Given the description of an element on the screen output the (x, y) to click on. 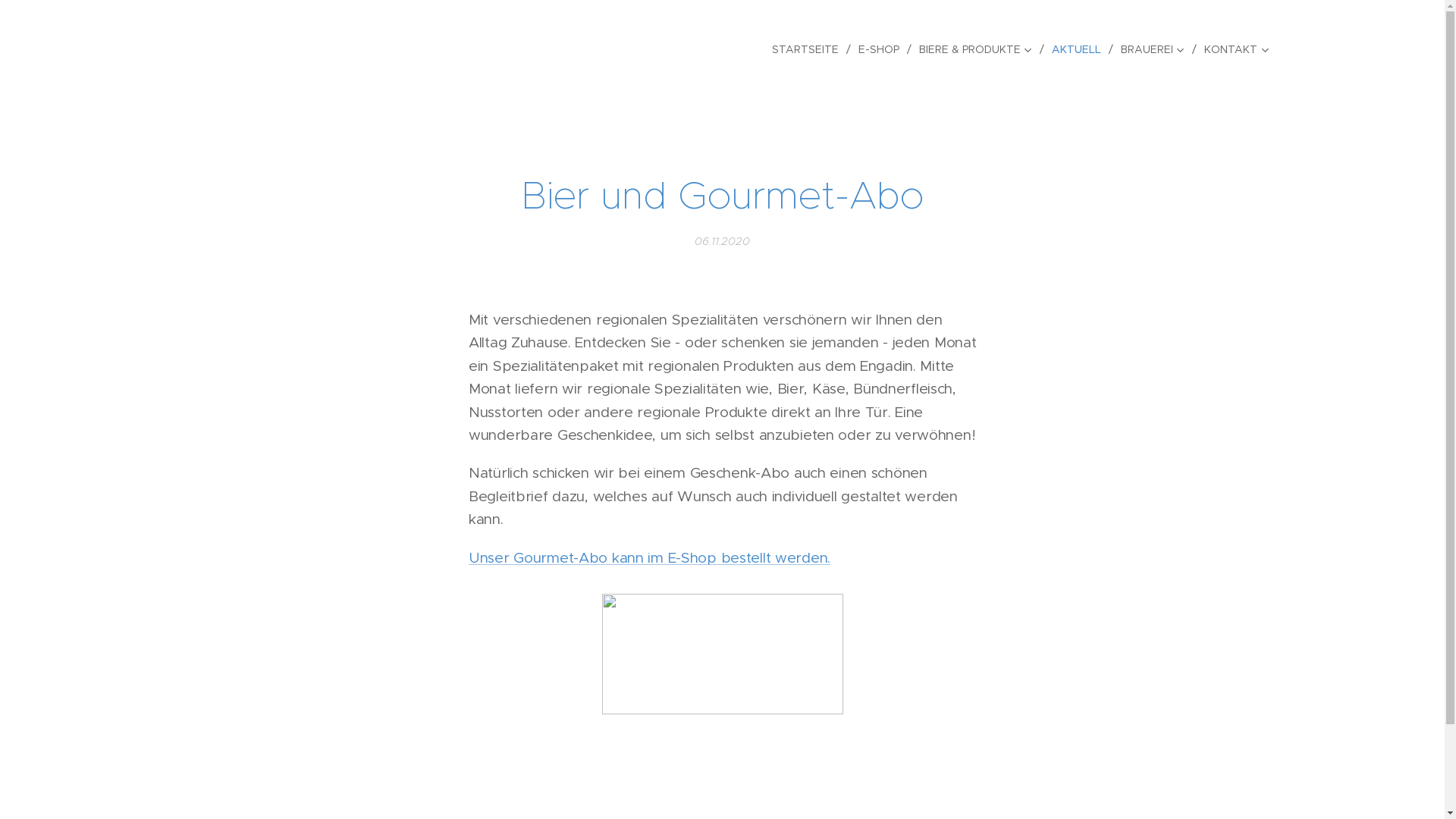
STARTSEITE Element type: text (808, 49)
Unser Gourmet-Abo kann im E-Shop bestellt werden. Element type: text (649, 556)
BRAUEREI Element type: text (1154, 49)
BIERE & PRODUKTE Element type: text (977, 49)
KONTAKT Element type: text (1232, 49)
E-SHOP Element type: text (880, 49)
AKTUELL Element type: text (1077, 49)
